Given the description of an element on the screen output the (x, y) to click on. 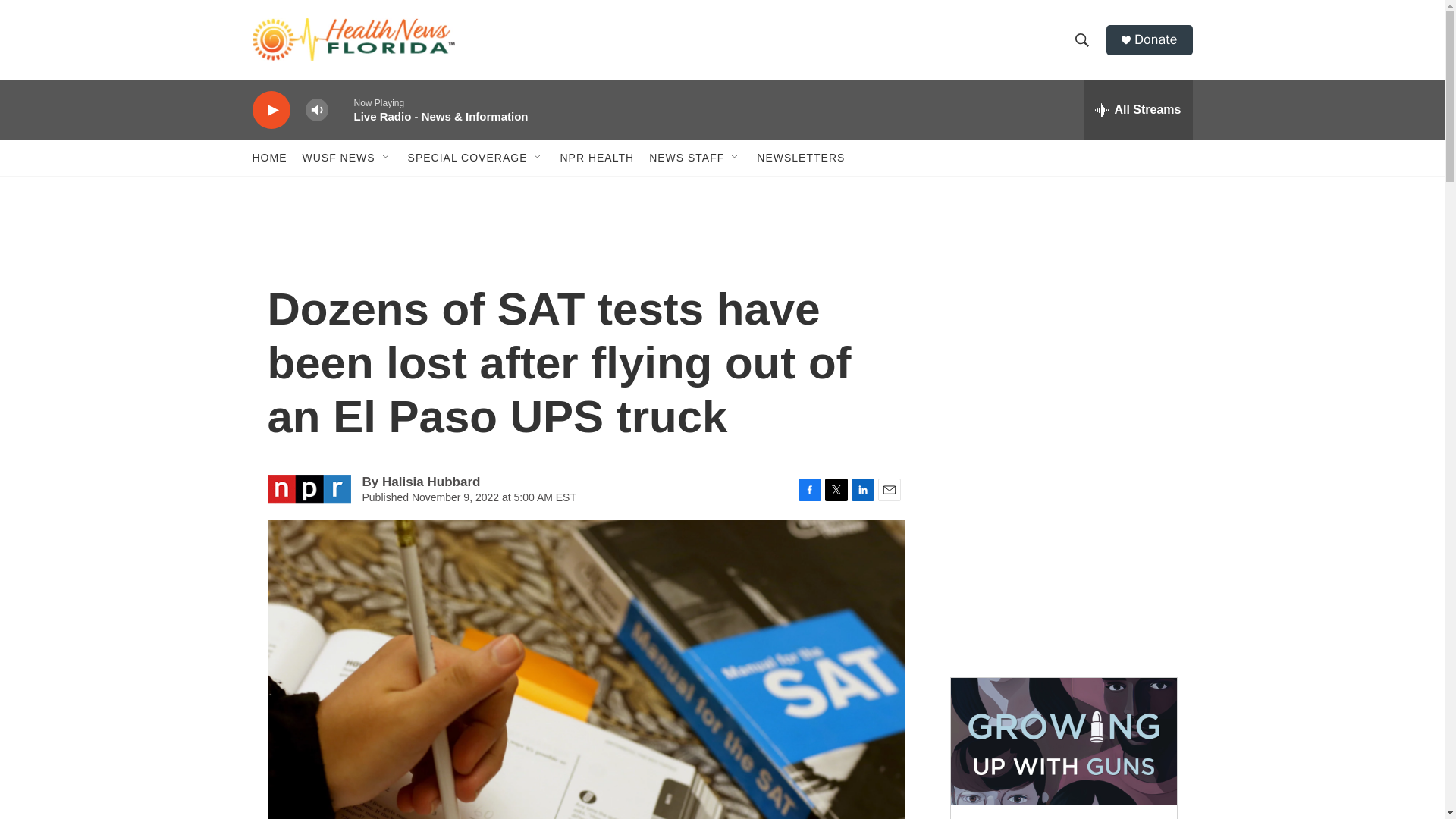
3rd party ad content (1062, 552)
3rd party ad content (1062, 331)
